Given the description of an element on the screen output the (x, y) to click on. 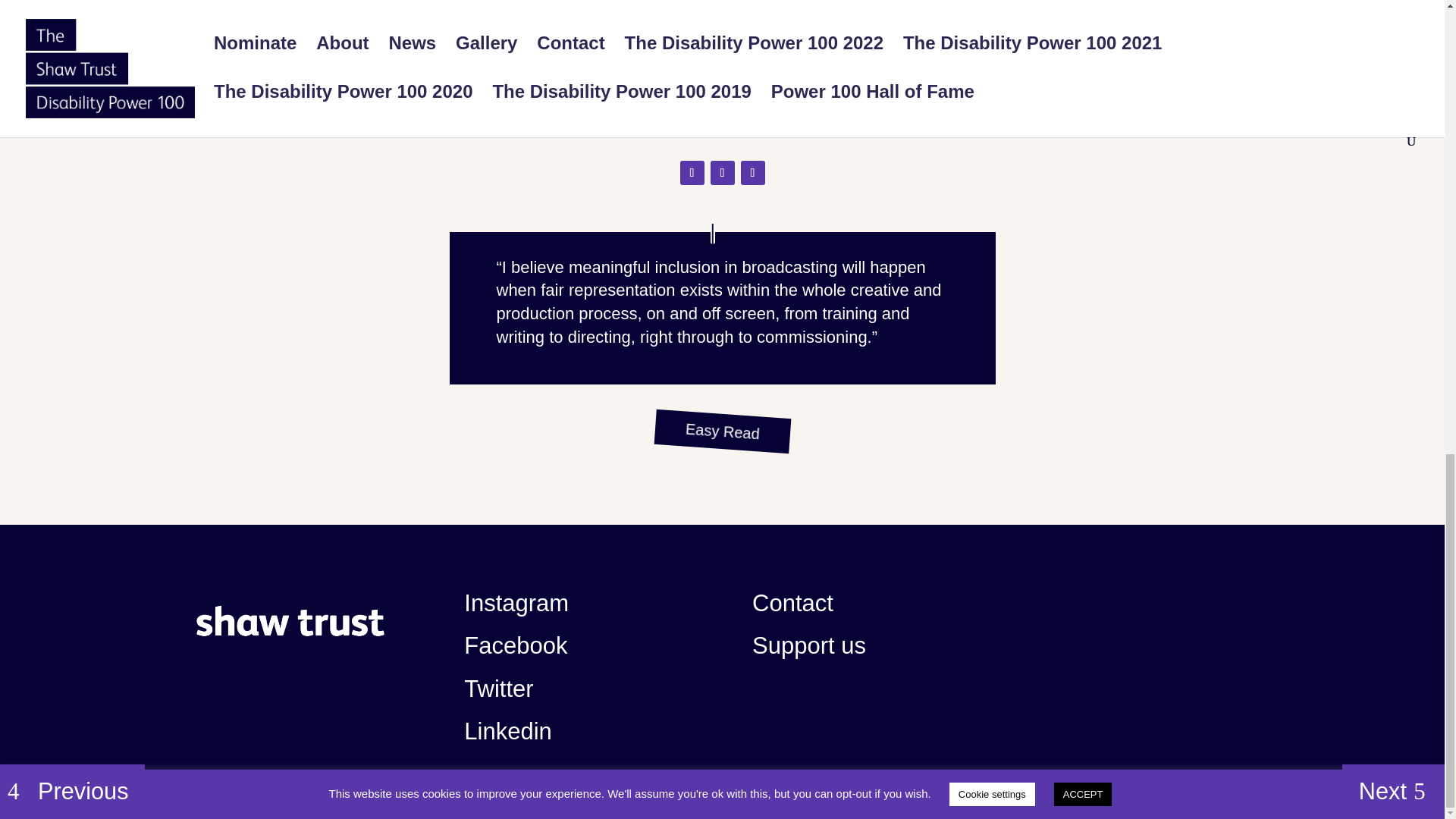
Twitter (498, 688)
Twitter (691, 172)
Shaw-Trust-logo-white-01 (290, 621)
Follow on X (691, 172)
Contact (792, 602)
Instagram (721, 172)
Instagram (516, 602)
Facebook (751, 172)
Linkedin (507, 731)
Easy Read (721, 426)
Follow on Instagram (721, 172)
www.scatteredpictures.net (722, 127)
Facebook (515, 645)
Follow on Facebook (751, 172)
